Given the description of an element on the screen output the (x, y) to click on. 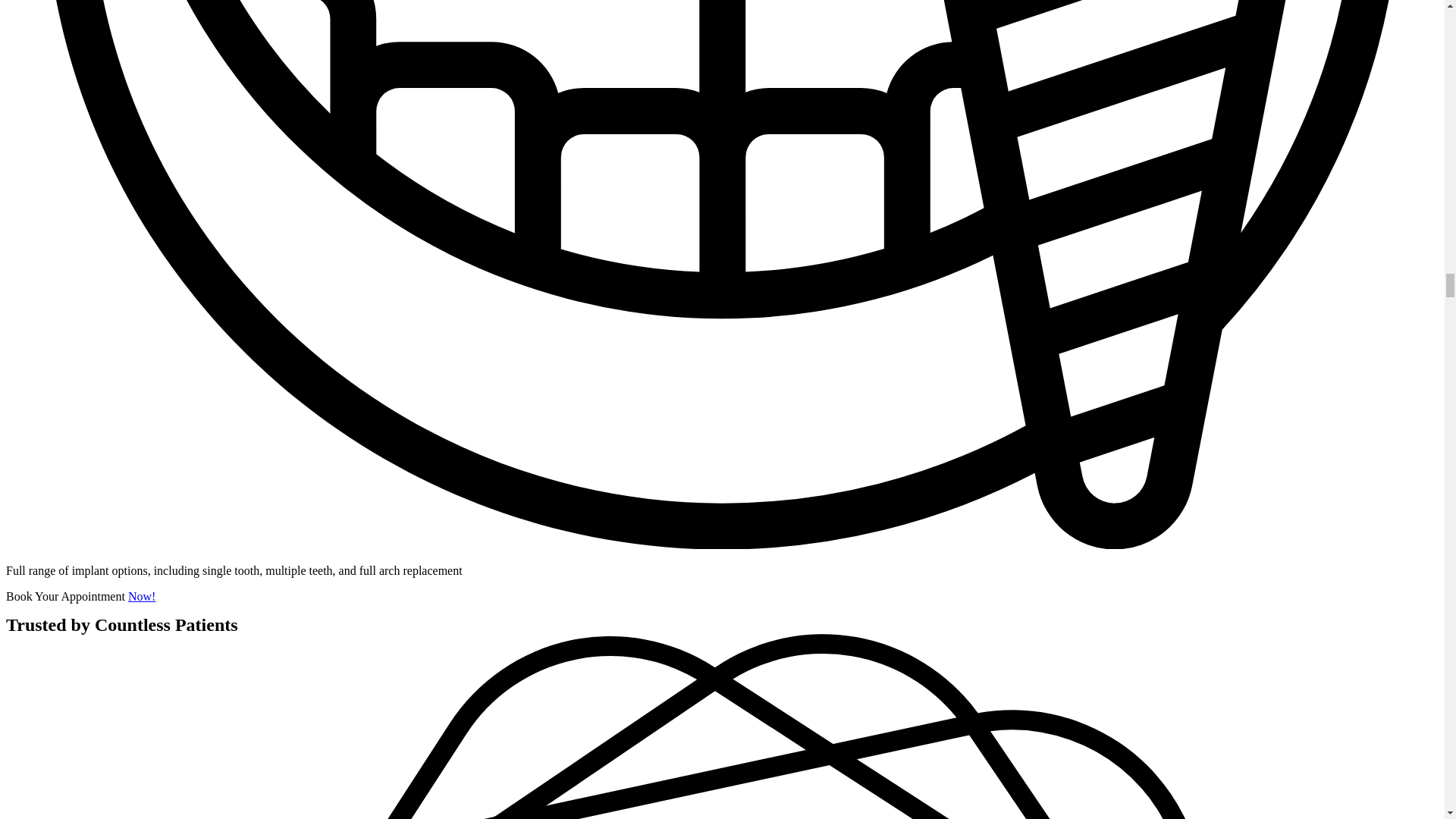
Now! (141, 595)
